Given the description of an element on the screen output the (x, y) to click on. 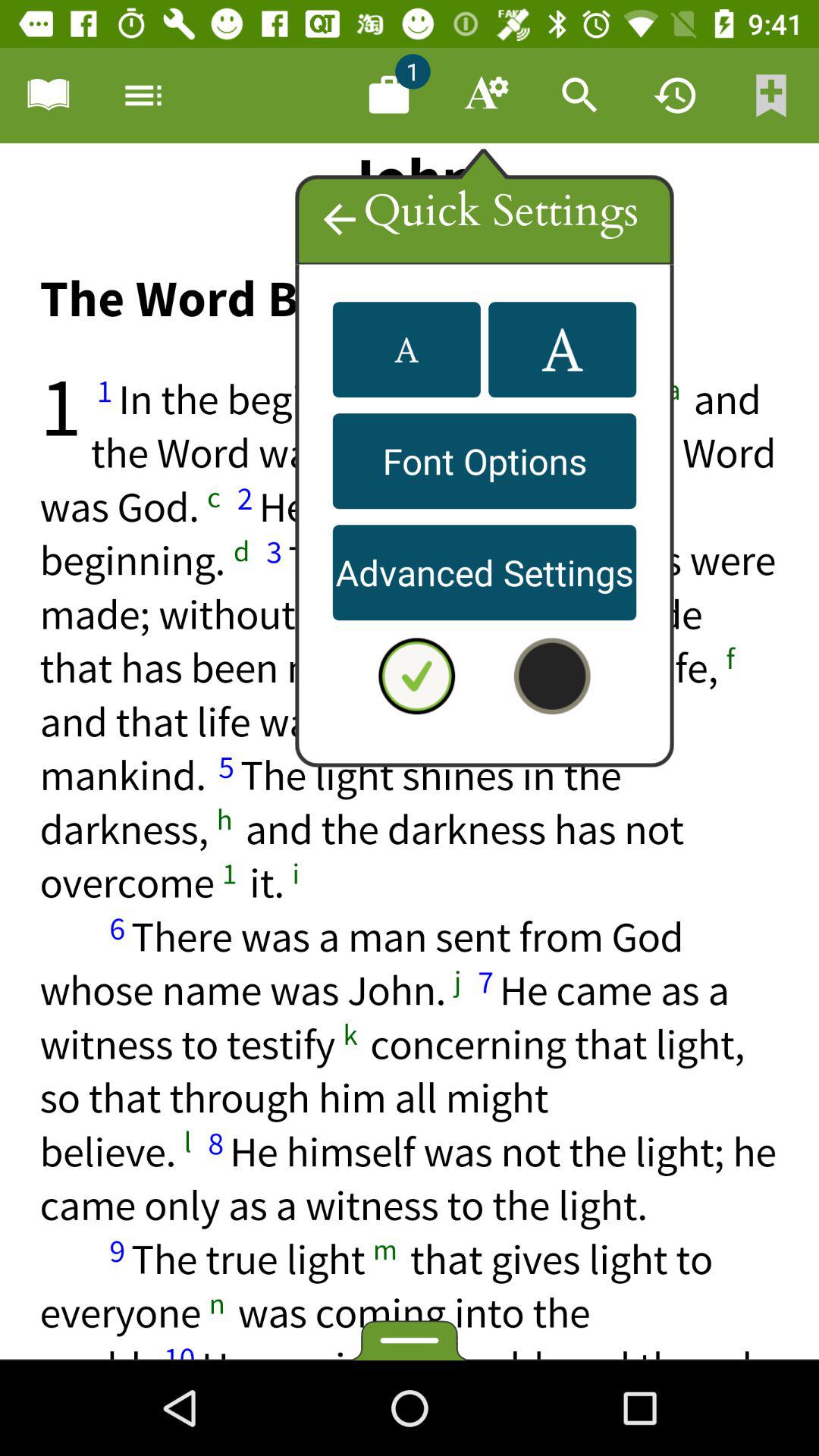
color (552, 676)
